Given the description of an element on the screen output the (x, y) to click on. 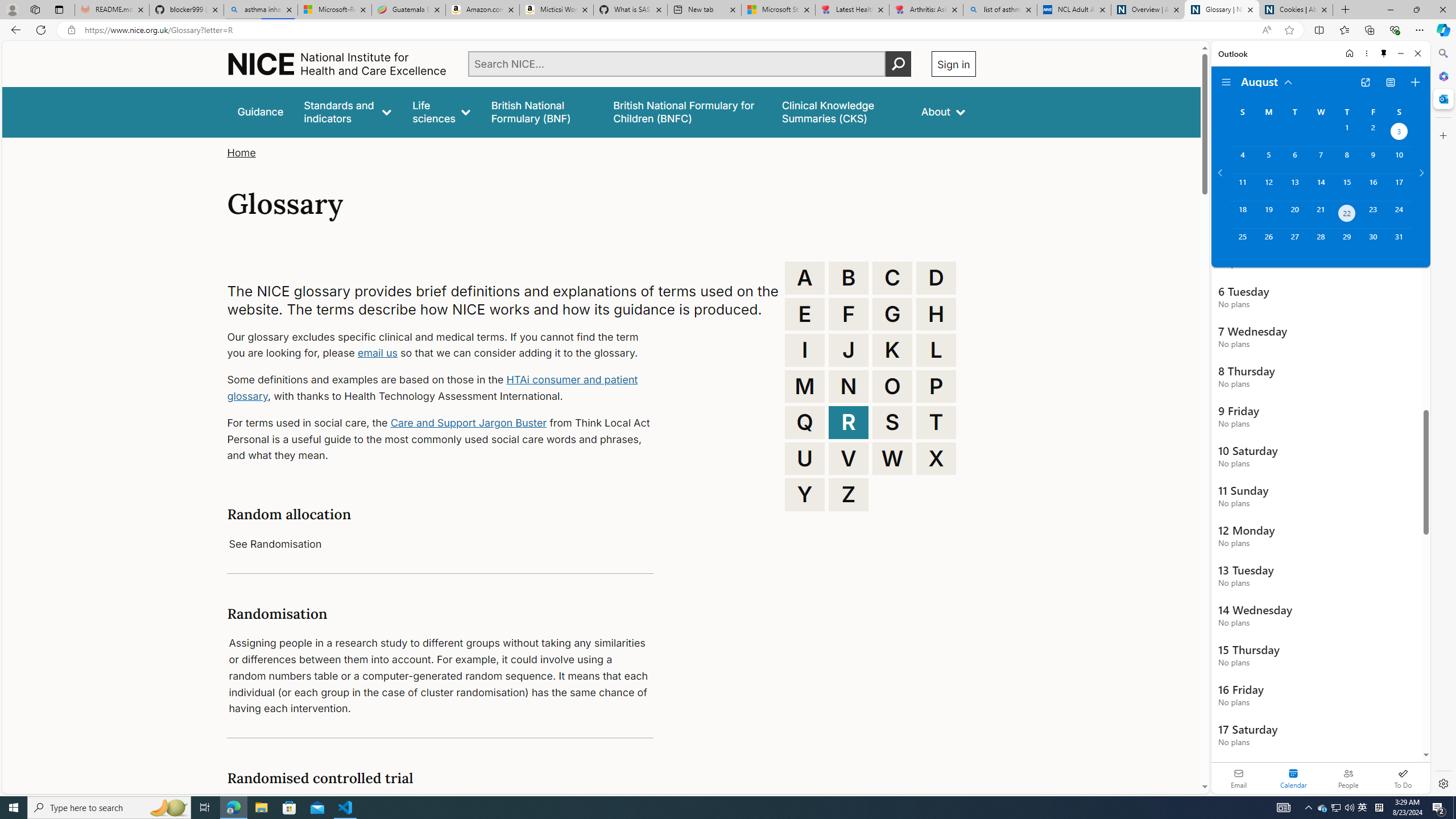
Guidance (260, 111)
false (841, 111)
Life sciences (440, 111)
B (848, 277)
D (935, 277)
U (804, 458)
Friday, August 30, 2024.  (1372, 241)
Sunday, August 11, 2024.  (1242, 186)
Refresh (40, 29)
Wednesday, August 21, 2024.  (1320, 214)
Saturday, August 31, 2024.  (1399, 241)
A (804, 277)
Monday, August 26, 2024.  (1268, 241)
Settings (1442, 783)
